Given the description of an element on the screen output the (x, y) to click on. 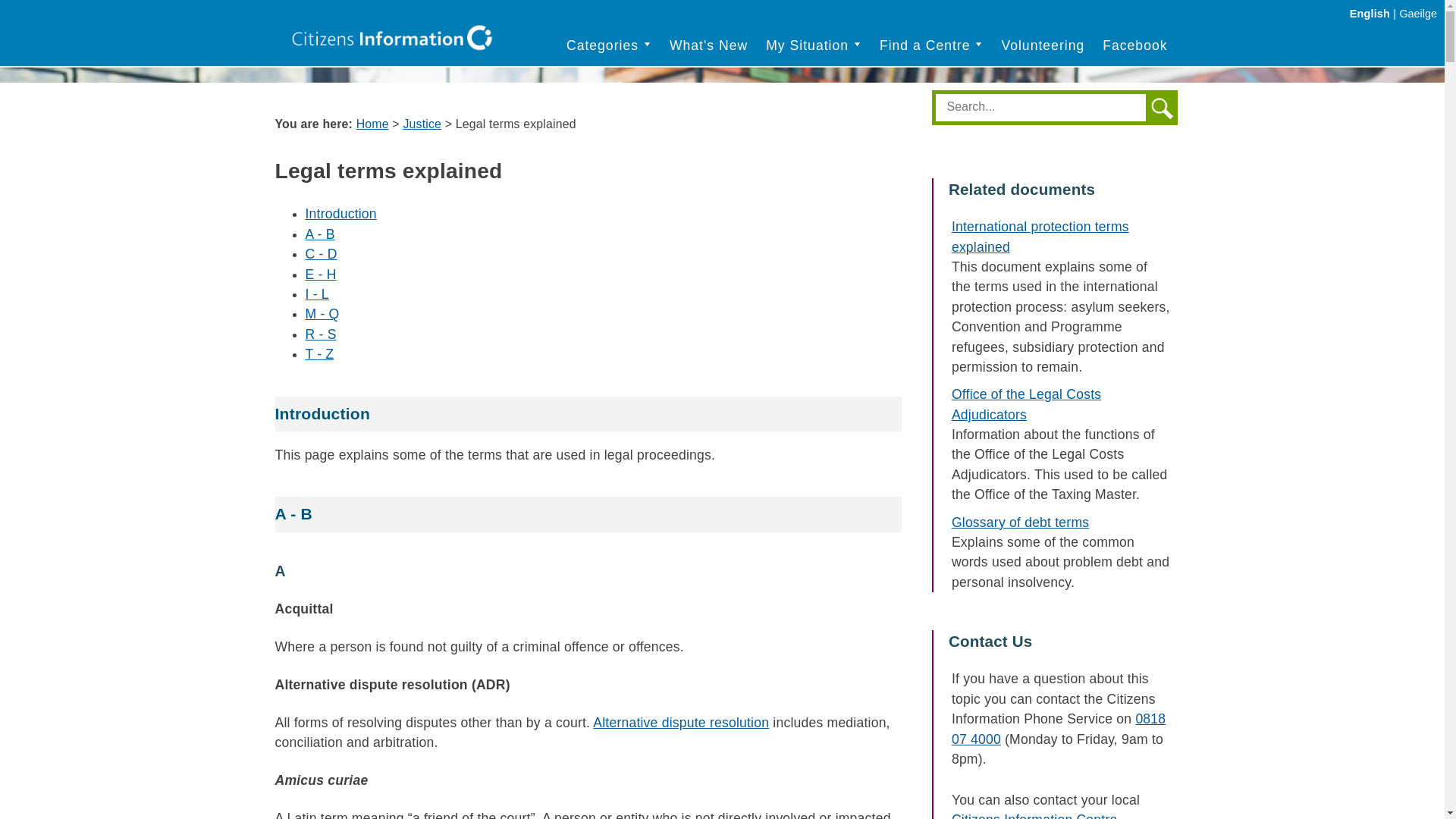
Categories (608, 45)
What's New (707, 45)
Search (1043, 106)
My Situation (812, 45)
Gaeilge (1418, 13)
